Given the description of an element on the screen output the (x, y) to click on. 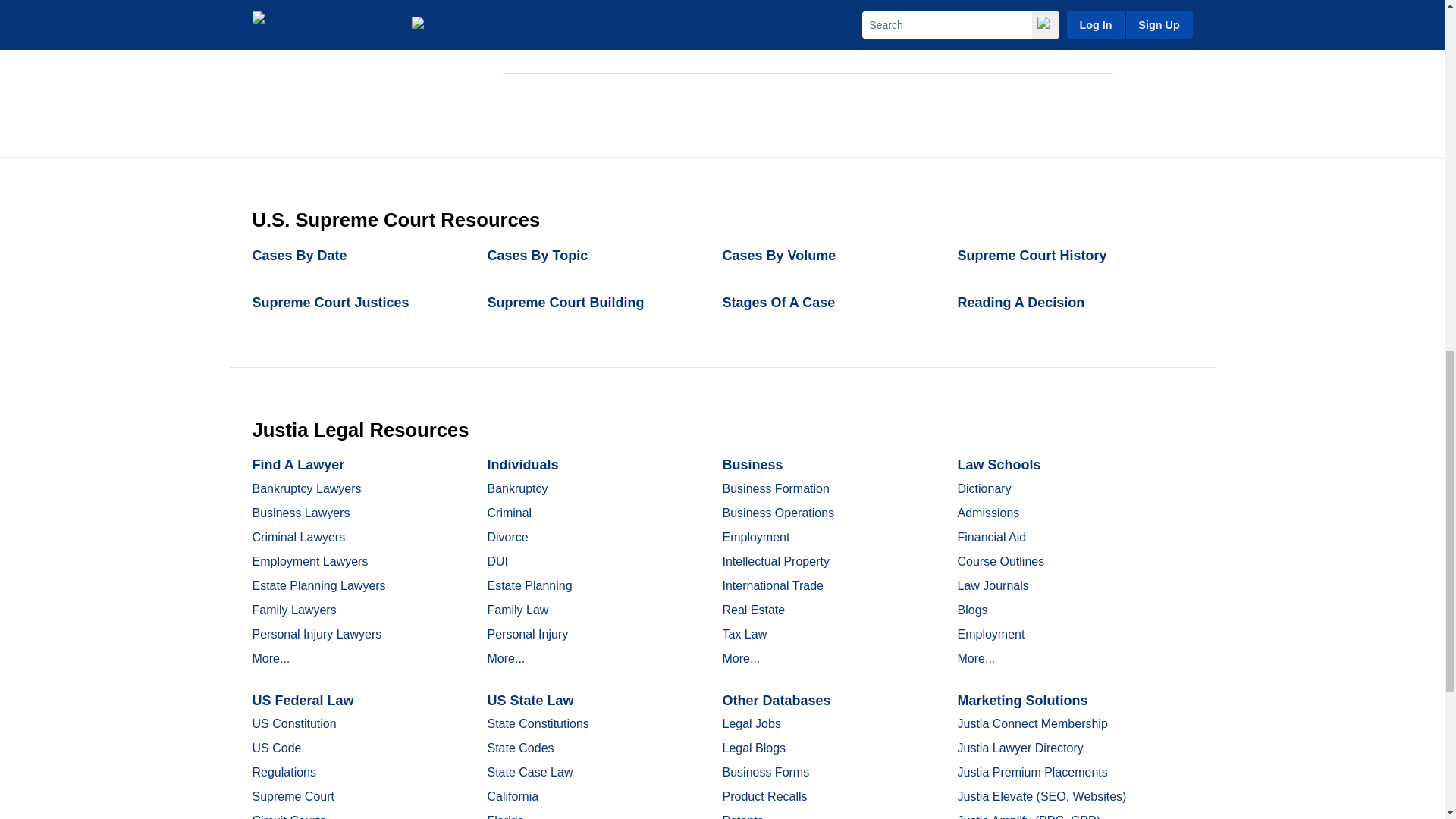
Law - Google Web (861, 32)
Law - Google News (1026, 32)
Law - Google Scholar (546, 32)
Law - Google Books (704, 32)
